Given the description of an element on the screen output the (x, y) to click on. 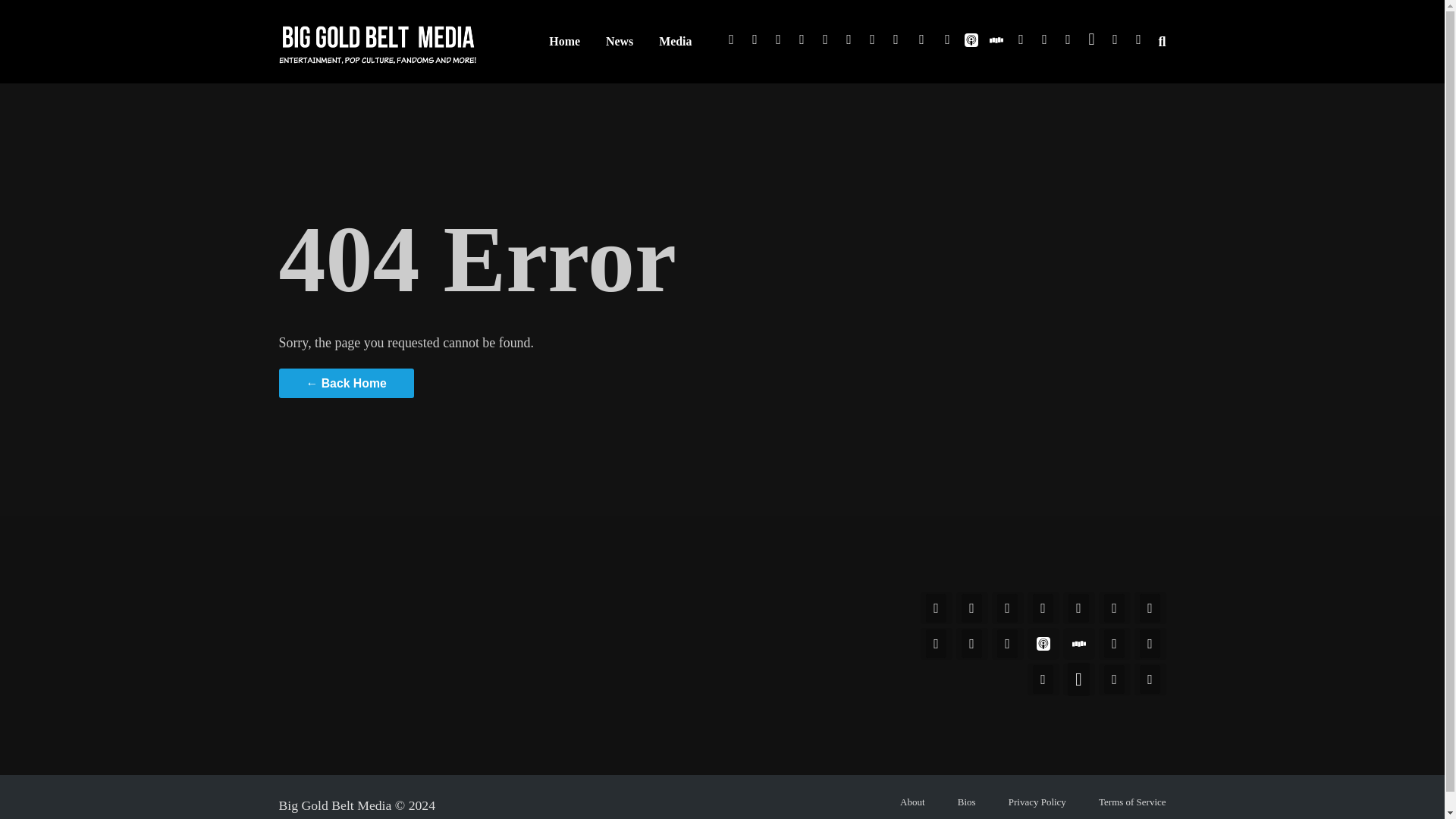
News (619, 41)
Home Page (564, 41)
News (619, 41)
Home (564, 41)
Media (675, 41)
Media (675, 41)
